Given the description of an element on the screen output the (x, y) to click on. 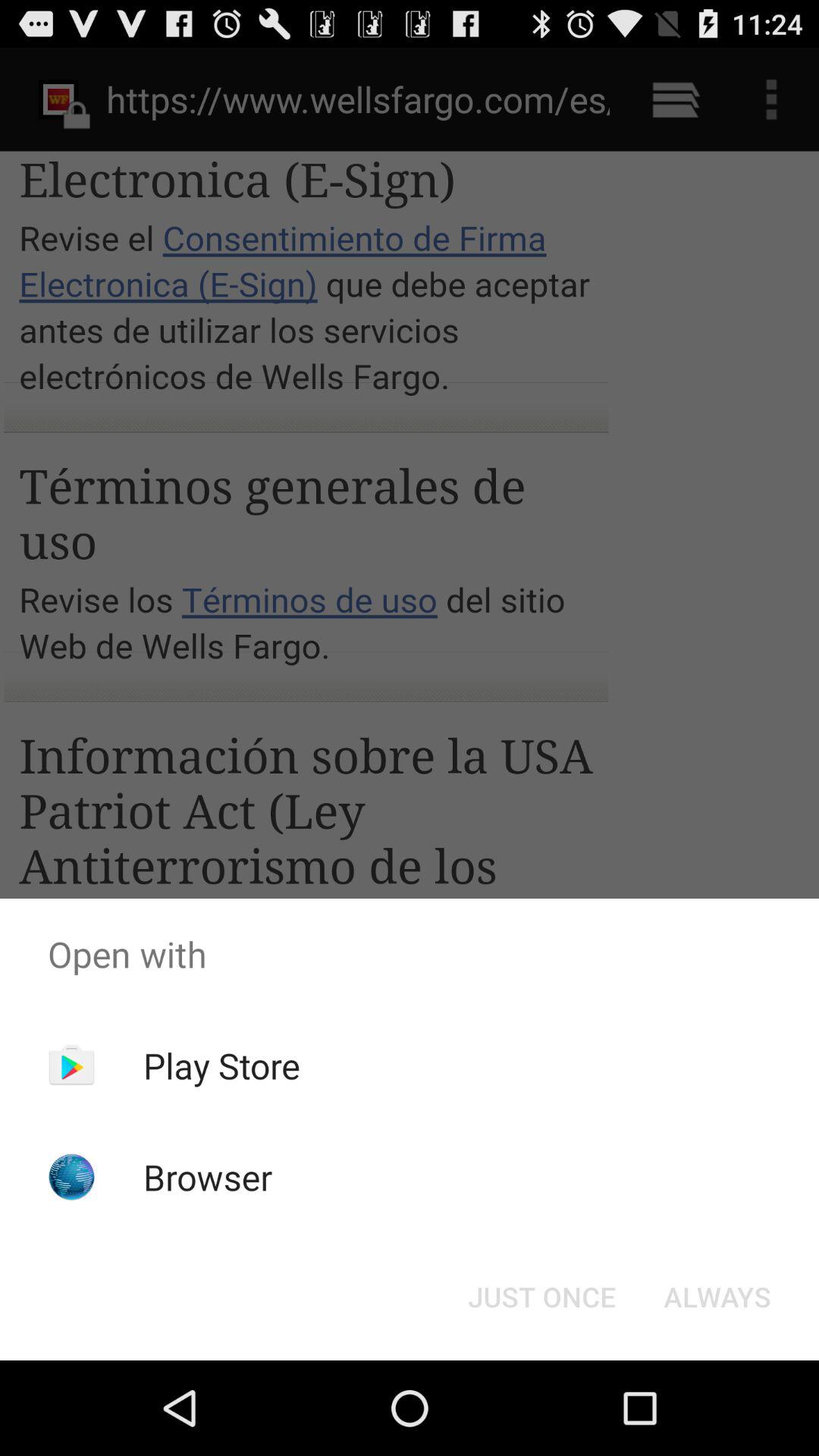
select item below the open with icon (717, 1296)
